Given the description of an element on the screen output the (x, y) to click on. 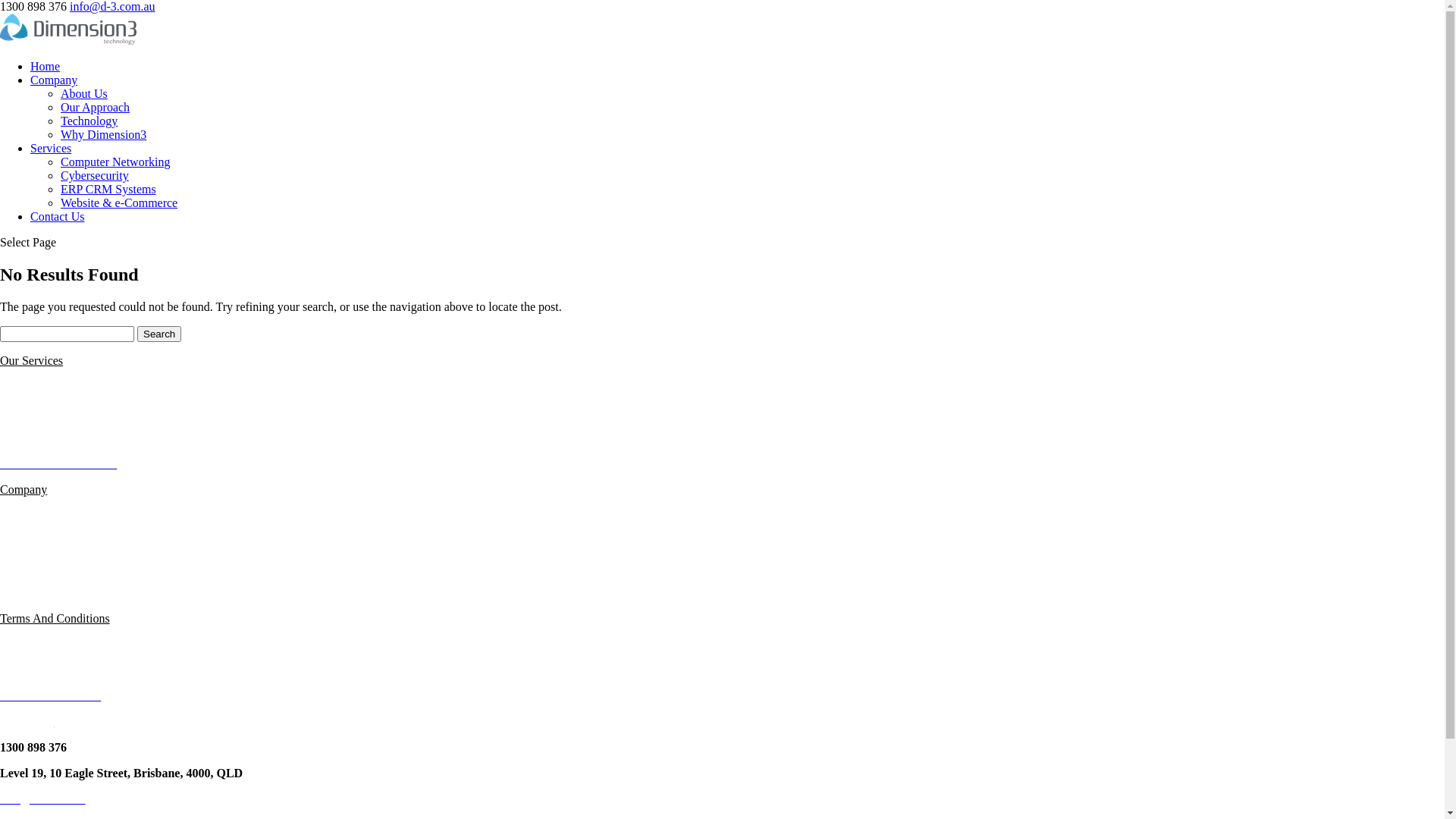
Computer Networking Element type: text (114, 161)
Services Element type: text (50, 147)
Contact Us Element type: text (57, 216)
Our Approach Element type: text (34, 566)
About Us Element type: text (23, 514)
Website & e-Commerce Element type: text (118, 202)
Why Dimension3 Element type: text (42, 592)
Website Terms & Conditions Element type: text (70, 643)
About Us Element type: text (83, 93)
Remote Access Here Element type: text (50, 695)
info@d-3.com.au Element type: text (42, 798)
info@d-3.com.au Element type: text (111, 6)
Cybersecurity Services Element type: text (56, 411)
Company Element type: text (53, 79)
Services Terms & Conditions Element type: text (71, 669)
Why Dimension3 Element type: text (103, 134)
Computer Networking Element type: text (54, 385)
Search Element type: text (159, 334)
ERP & CRM Systems Element type: text (53, 437)
Technology Element type: text (88, 120)
Home Element type: text (44, 65)
Cybersecurity Element type: text (94, 175)
Technology Element type: text (28, 540)
ERP CRM Systems Element type: text (108, 188)
Our Approach Element type: text (94, 106)
Website & e-Commerce Element type: text (58, 463)
